Given the description of an element on the screen output the (x, y) to click on. 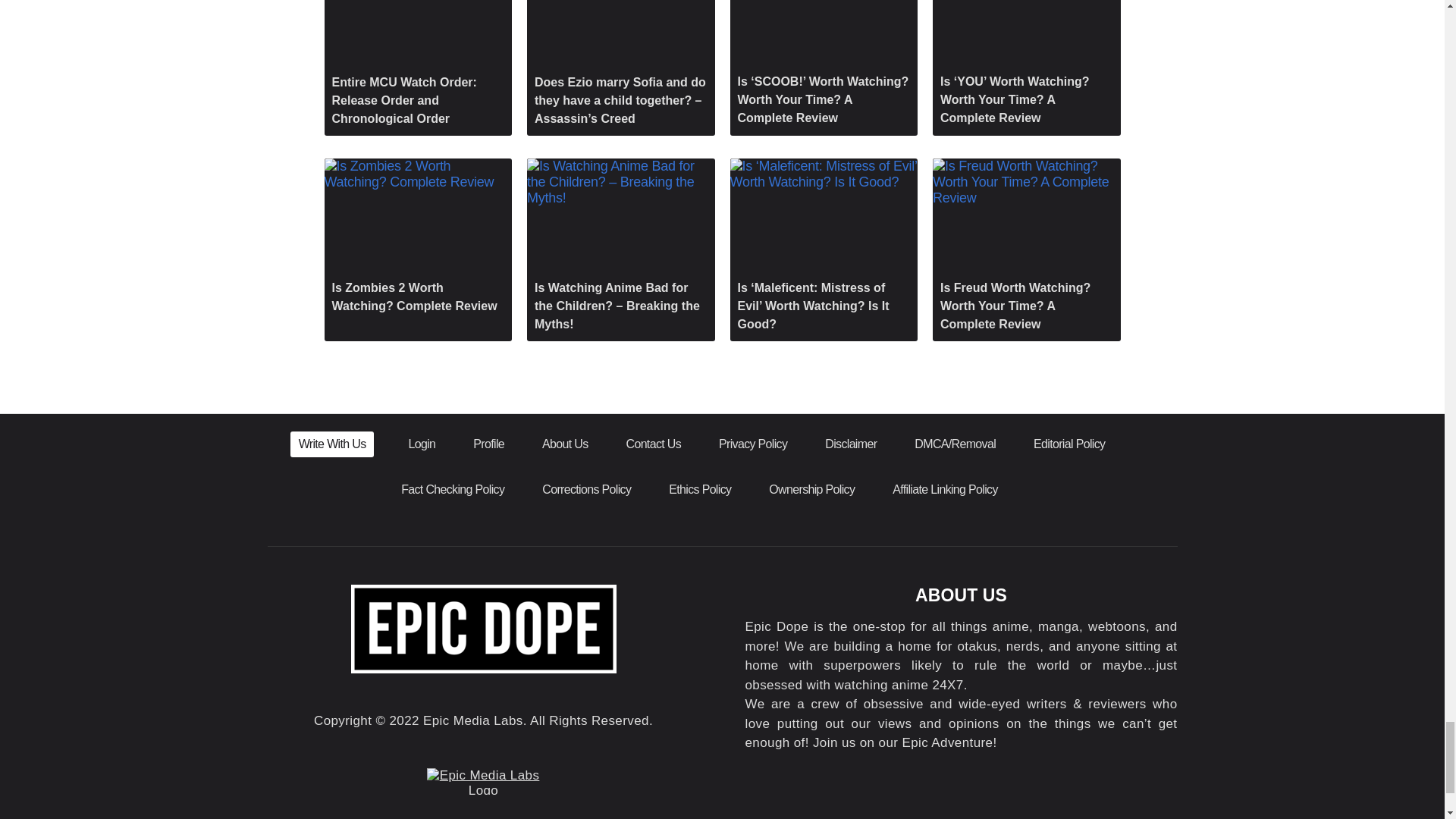
Is Freud Worth Watching? Worth Your Time? A Complete Review (1027, 249)
Is Zombies 2 Worth Watching? Complete Review (418, 240)
